Given the description of an element on the screen output the (x, y) to click on. 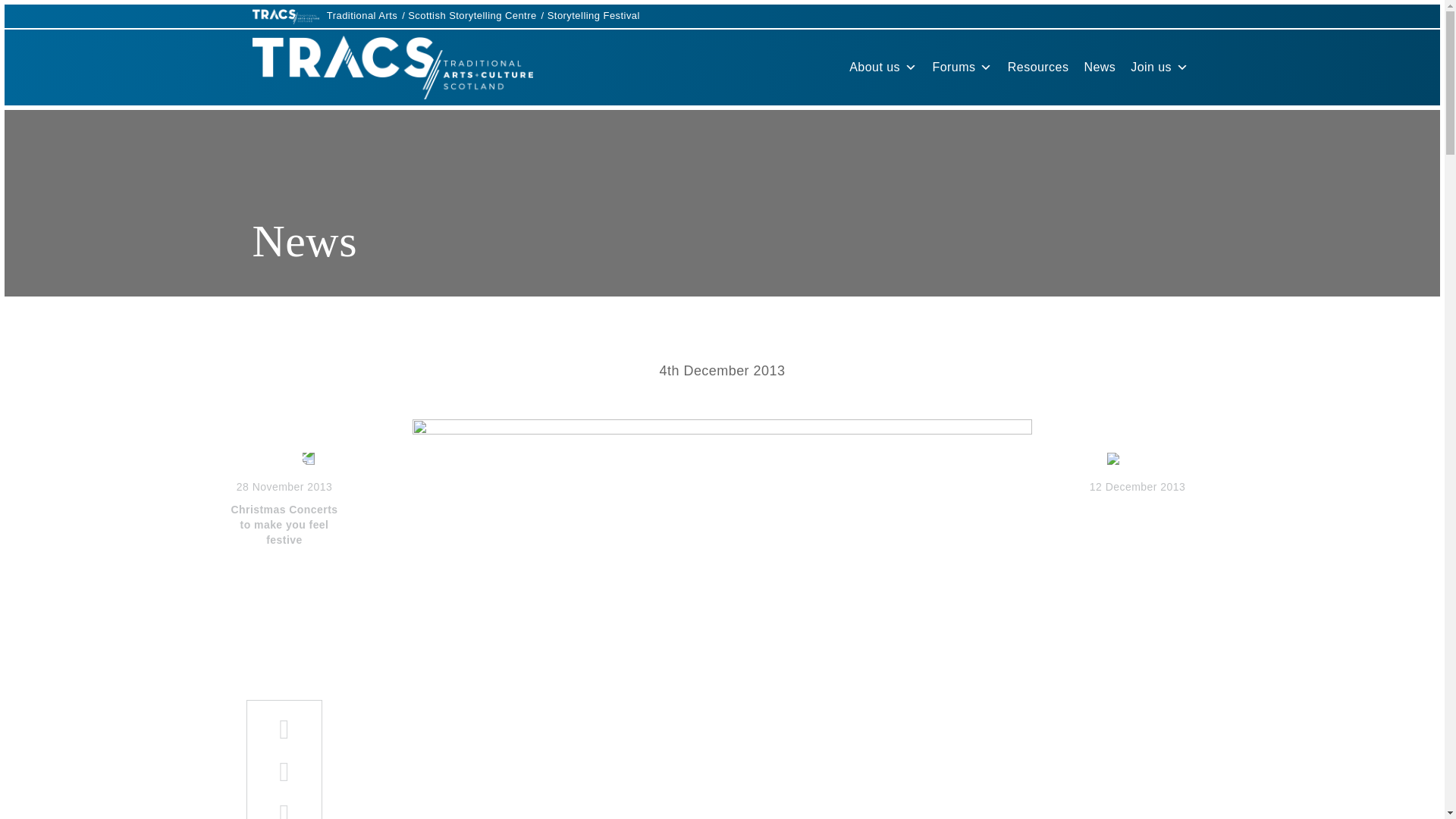
Resources (1038, 67)
Forums (961, 67)
Traditional Arts (361, 15)
About us (882, 67)
Scottish Storytelling Centre (283, 499)
Join us (471, 15)
12 December 2013 (1158, 67)
TRACS (1137, 473)
Storytelling Festival (392, 67)
